Given the description of an element on the screen output the (x, y) to click on. 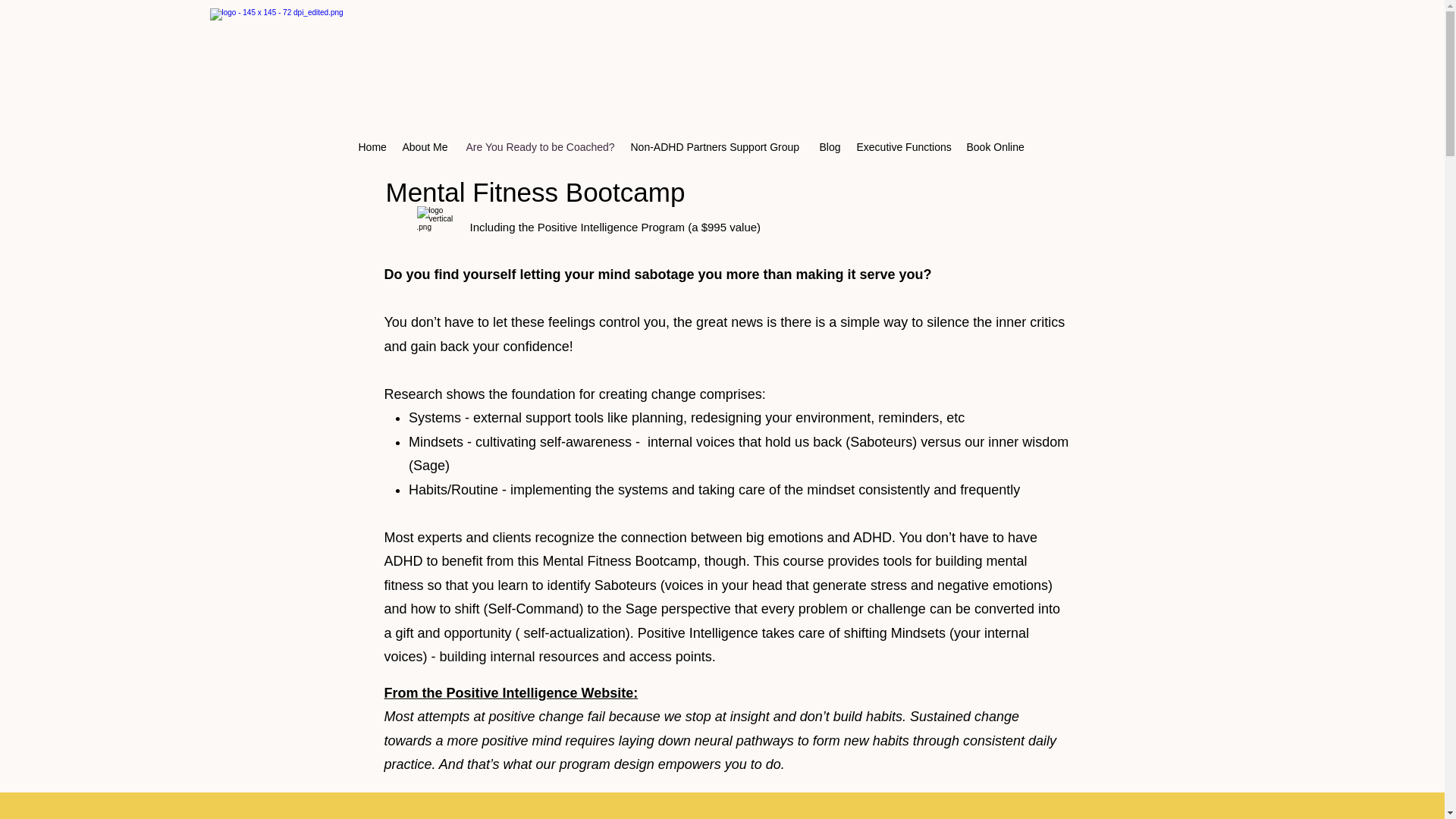
Blog (829, 146)
Are You Ready to be Coached? (540, 146)
Book Online (995, 146)
Non-ADHD Partners Support Group (717, 146)
Executive Functions (903, 146)
Positive Intelligence Website (539, 693)
Home (372, 146)
About Me (426, 146)
